Given the description of an element on the screen output the (x, y) to click on. 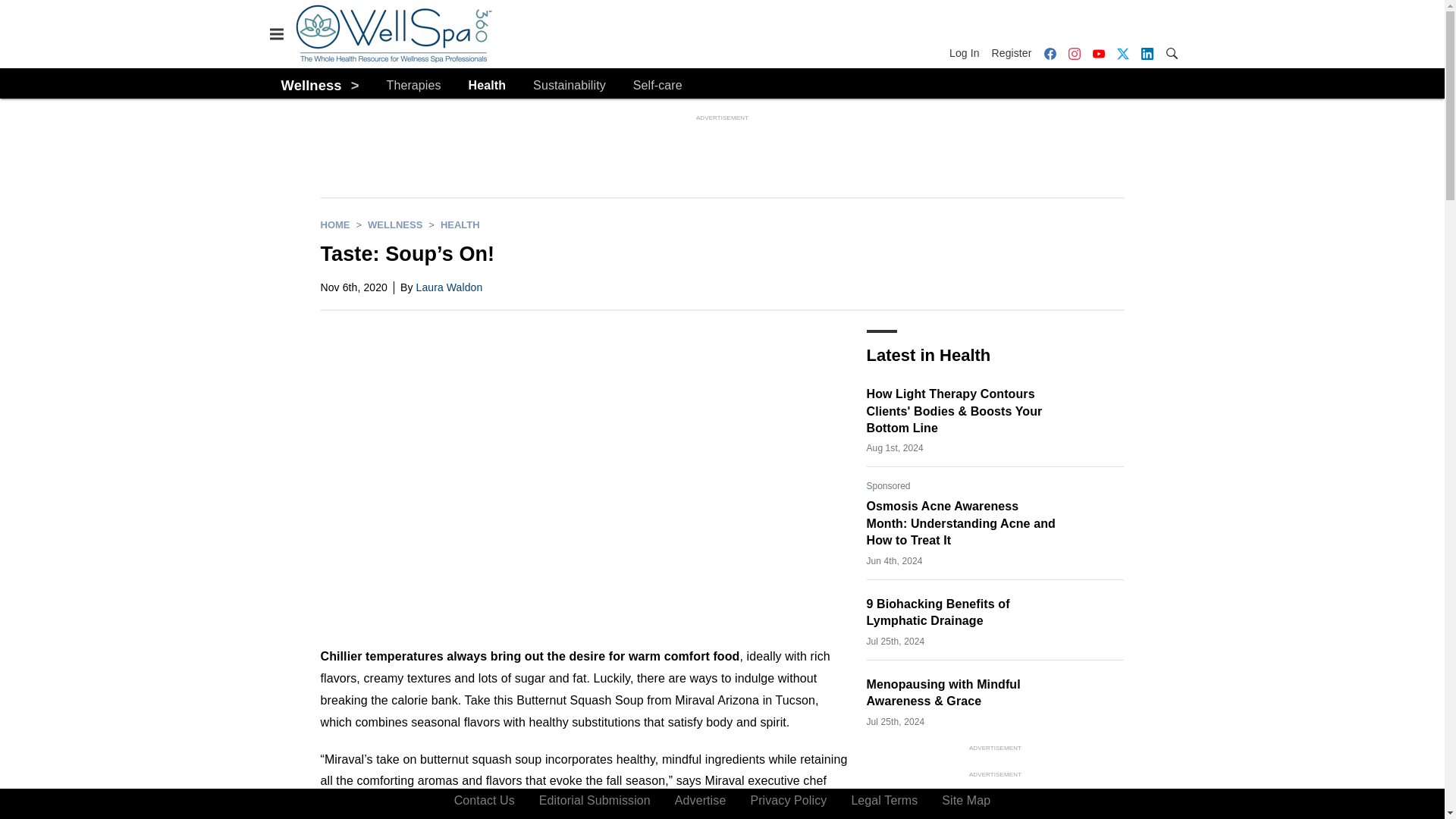
Facebook icon (1049, 53)
Wellness (395, 224)
Sustainability (568, 85)
Wellness (310, 85)
Twitter X icon (1122, 53)
Instagram icon (1073, 53)
Health (487, 85)
Therapies (414, 85)
LinkedIn icon (1146, 53)
YouTube icon (1097, 53)
